Given the description of an element on the screen output the (x, y) to click on. 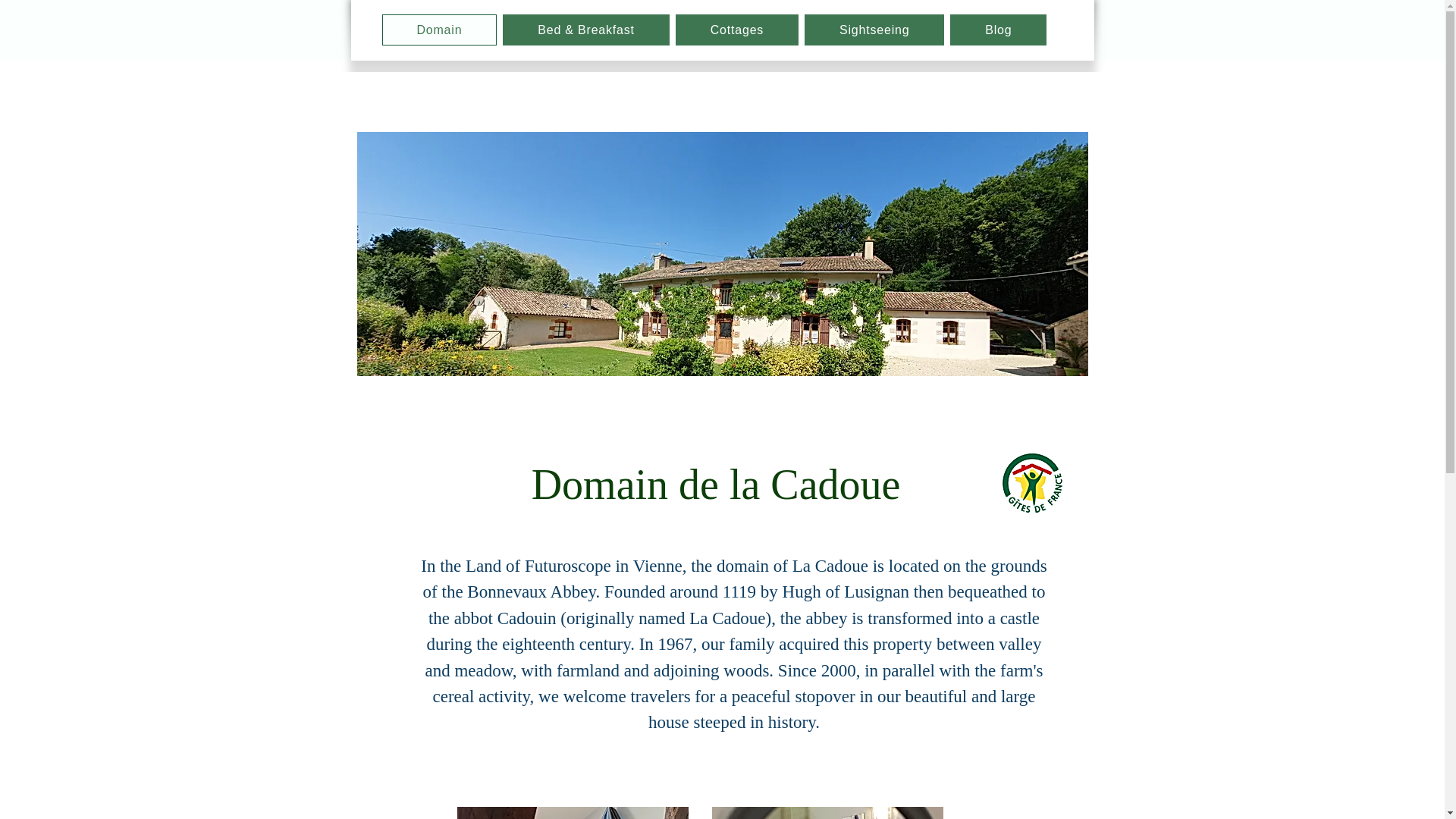
Blog (998, 29)
Cottages (736, 29)
Sightseeing (874, 29)
Domain (439, 29)
